Given the description of an element on the screen output the (x, y) to click on. 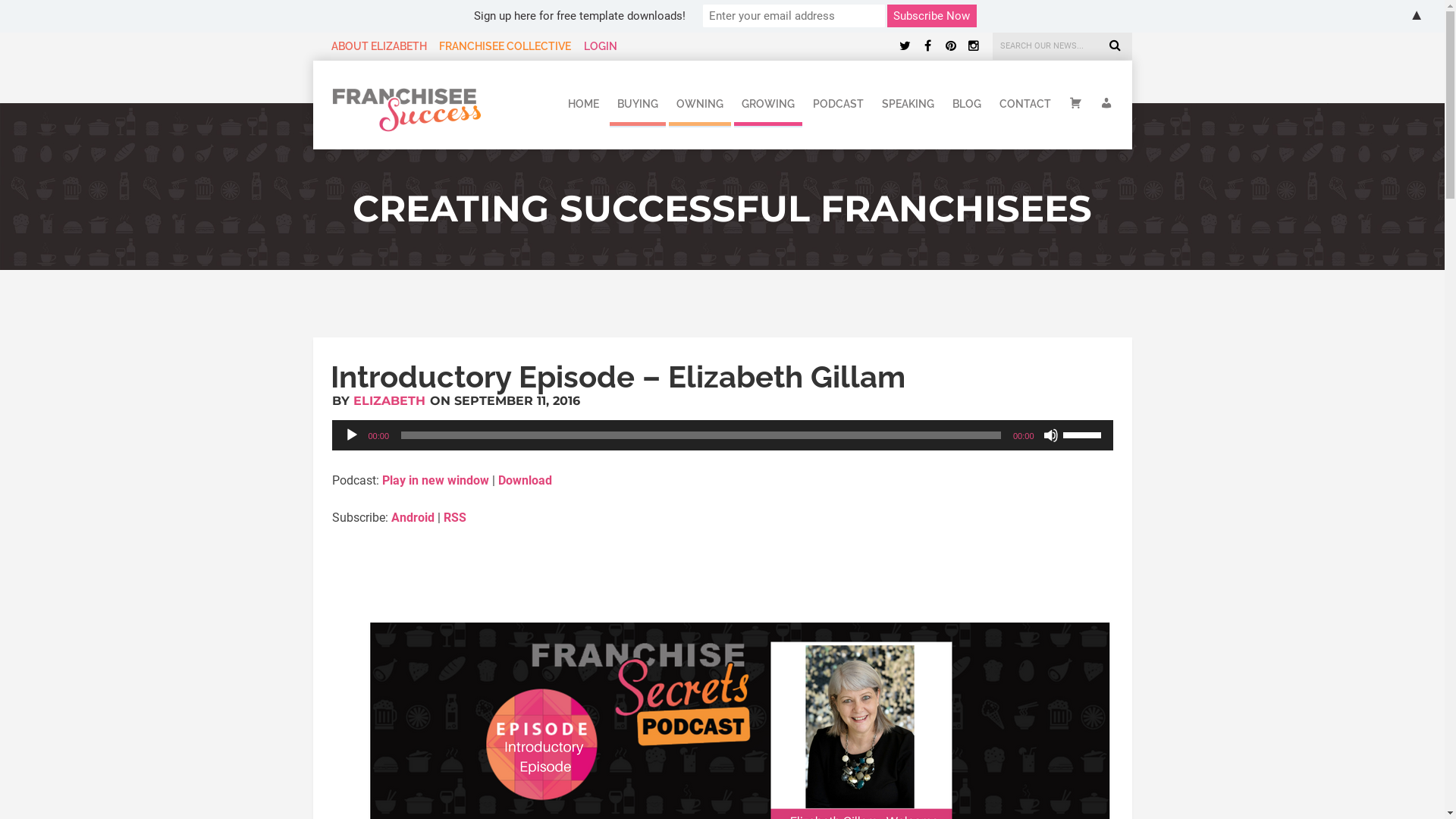
BY ELIZABETH Element type: text (378, 400)
FRANCHISEE COLLECTIVE Element type: text (505, 46)
Mute Element type: hover (1050, 434)
MY ACCOUNT Element type: text (1102, 100)
Use Up/Down Arrow keys to increase or decrease volume. Element type: text (1084, 433)
CART Element type: text (1075, 100)
PODCAST Element type: text (838, 100)
Download Element type: text (524, 480)
OWNING Element type: text (699, 100)
LOGIN Element type: text (600, 46)
Play in new window Element type: text (435, 480)
RSS Element type: text (453, 517)
Facebook Element type: hover (927, 45)
Pinterest Element type: hover (949, 45)
BUYING Element type: text (637, 100)
Twitter Element type: hover (904, 45)
CONTACT Element type: text (1024, 100)
Subscribe Now Element type: text (931, 15)
Play Element type: hover (351, 434)
ABOUT ELIZABETH Element type: text (378, 46)
Instagram Element type: hover (972, 45)
Android Element type: text (412, 517)
SPEAKING Element type: text (907, 100)
GROWING Element type: text (768, 100)
HOME Element type: text (582, 100)
BLOG Element type: text (966, 100)
ON SEPTEMBER 11, 2016 Element type: text (504, 400)
